Given the description of an element on the screen output the (x, y) to click on. 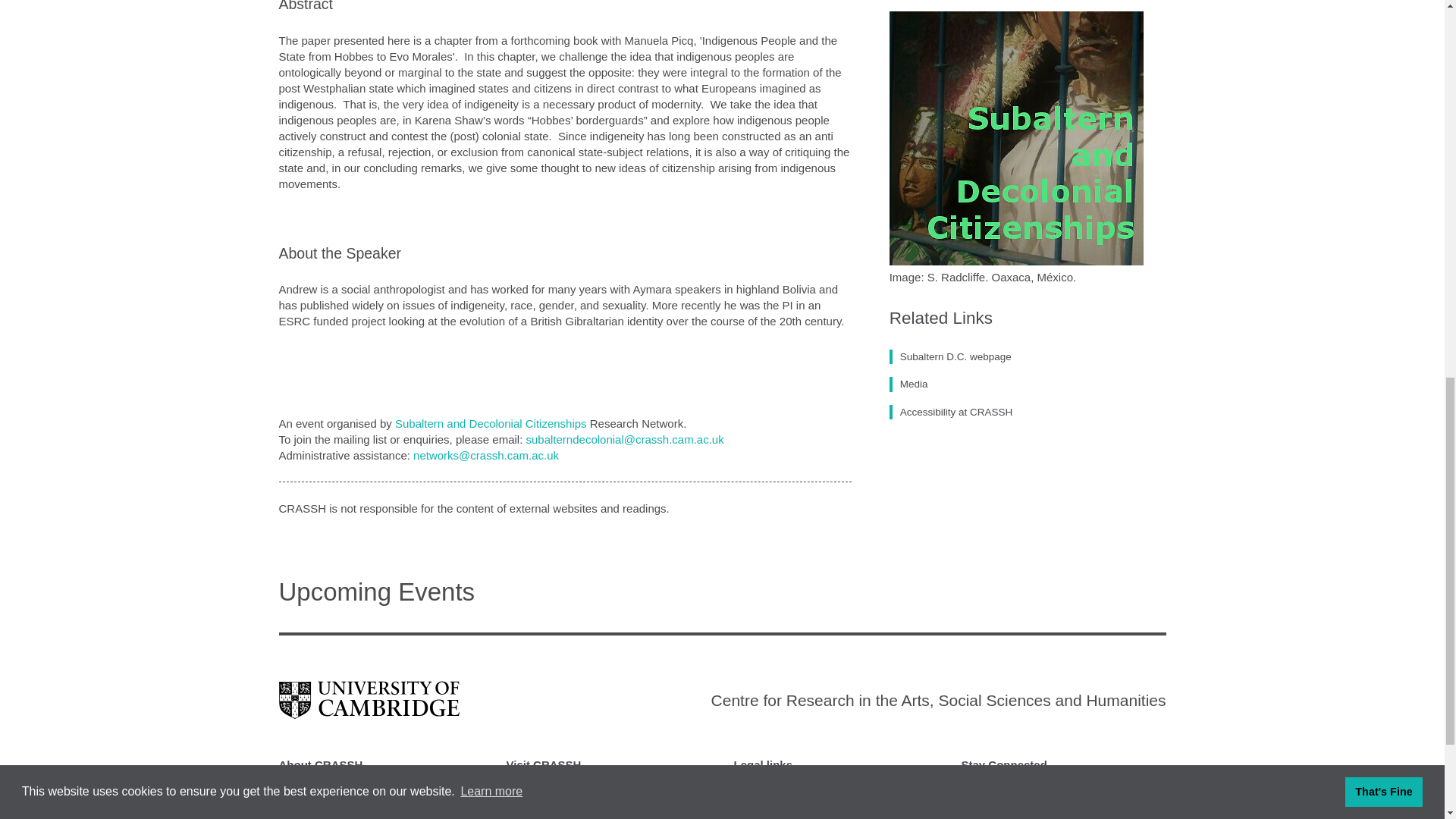
Find CRASSH (311, 798)
Vacancies (301, 814)
Subaltern and Decolonial Citizenships (490, 422)
Freedom of Information (786, 814)
Accessibility at CRASSH (790, 781)
Contact CRASSH (319, 781)
Equality and Diversity at CRASSH (811, 798)
